Given the description of an element on the screen output the (x, y) to click on. 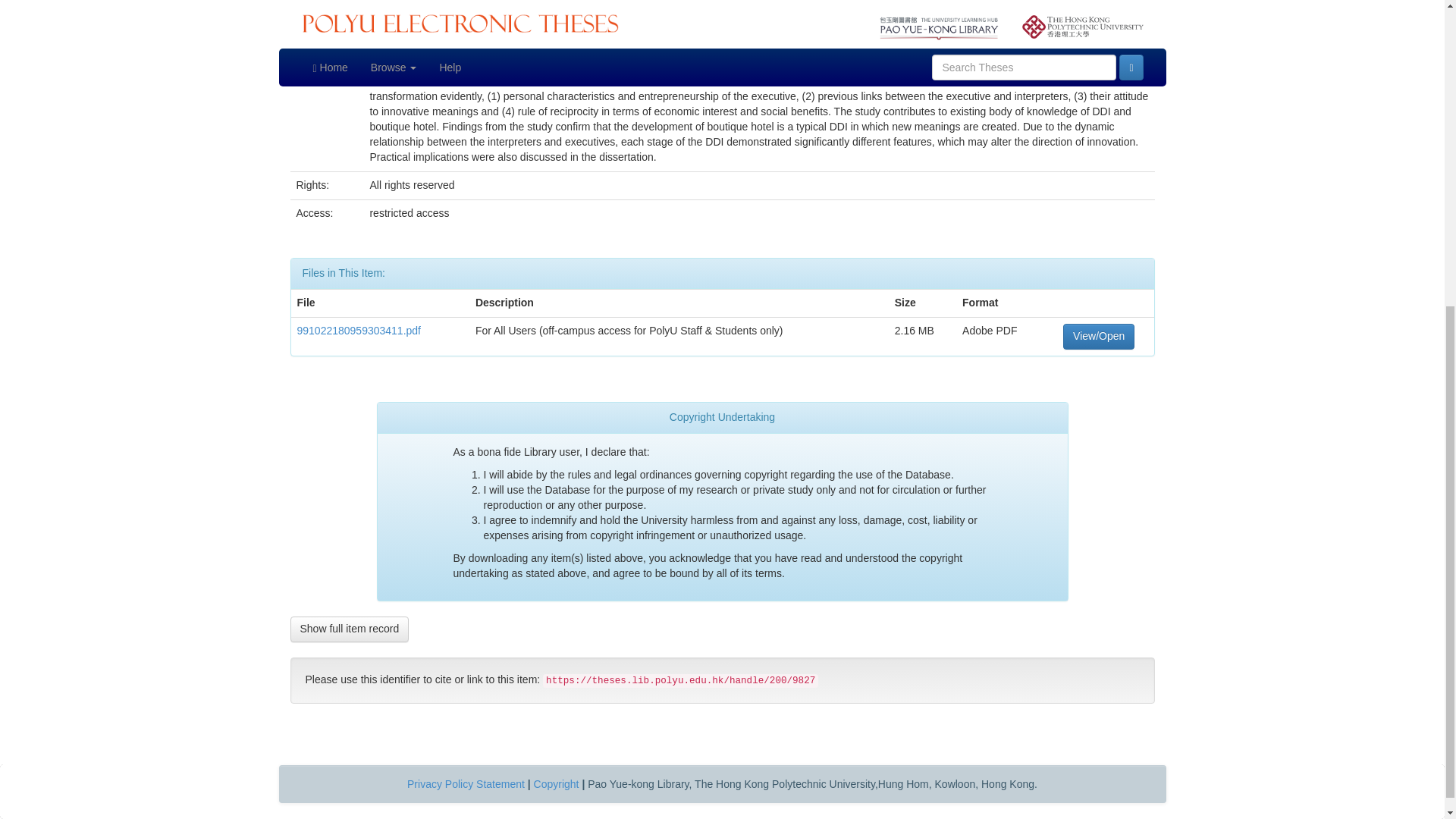
Privacy Policy Statement (465, 784)
Show full item record (349, 629)
991022180959303411.pdf (359, 330)
Copyright (556, 784)
